Given the description of an element on the screen output the (x, y) to click on. 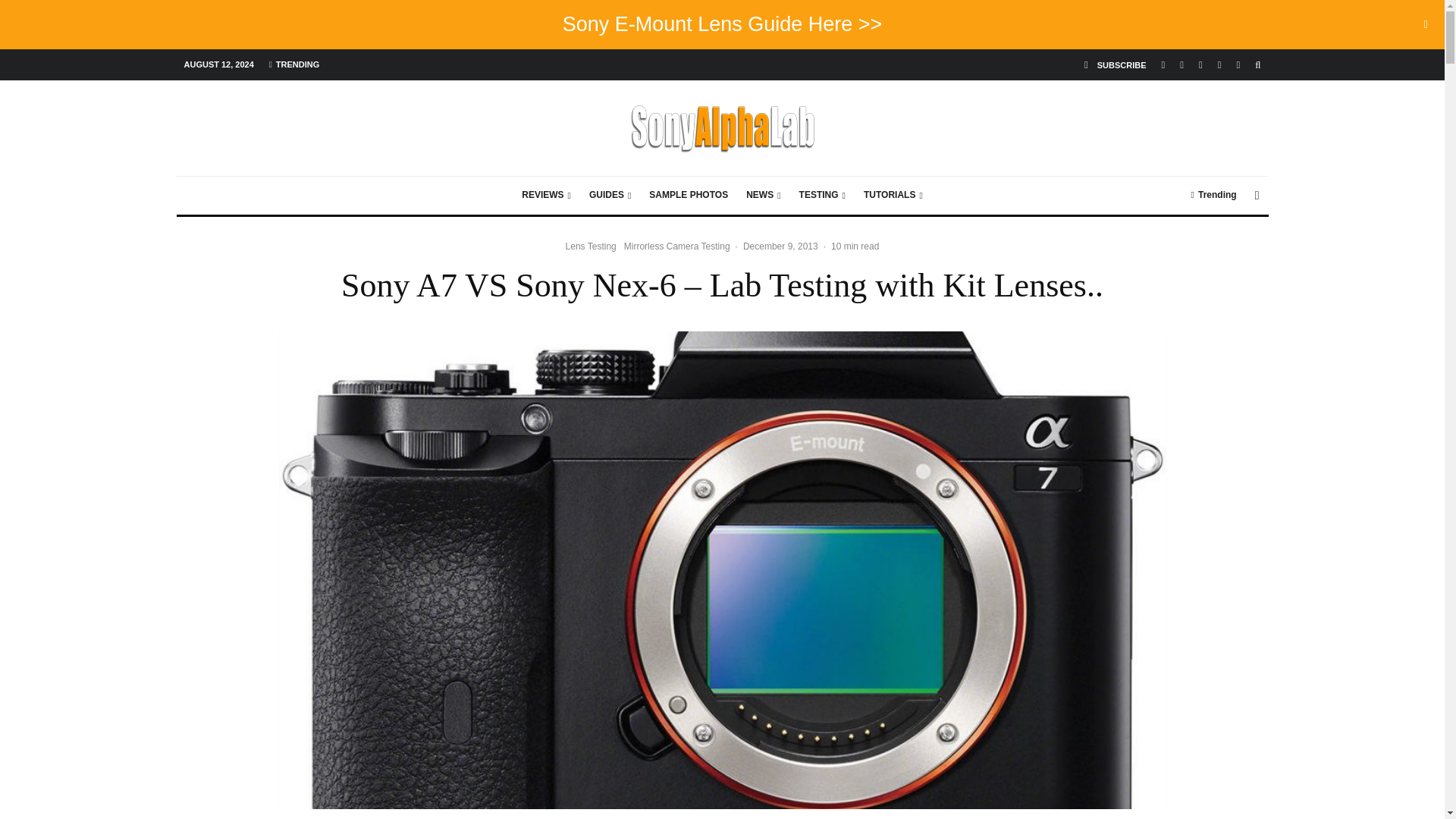
GUIDES (609, 195)
REVIEWS (545, 195)
TRENDING (294, 63)
SUBSCRIBE (1115, 65)
